Given the description of an element on the screen output the (x, y) to click on. 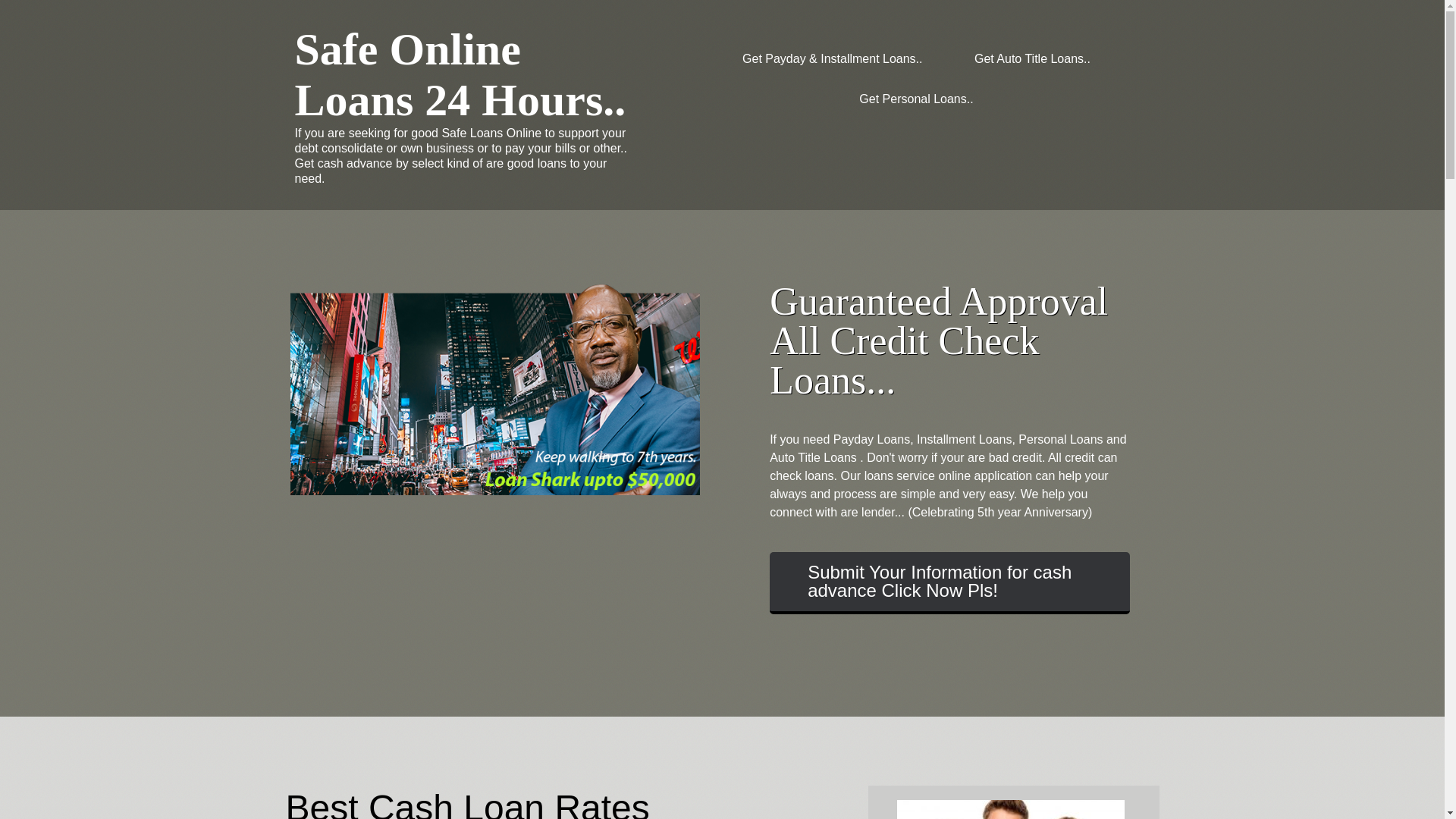
Safe Online Loans 24 Hours.. (460, 74)
Submit Your Information for cash advance Click Now Pls! (949, 583)
Safe Online Loans 24 Hours.. (460, 74)
Get Auto Title Loans.. (1032, 58)
Get Personal Loans.. (915, 98)
